Given the description of an element on the screen output the (x, y) to click on. 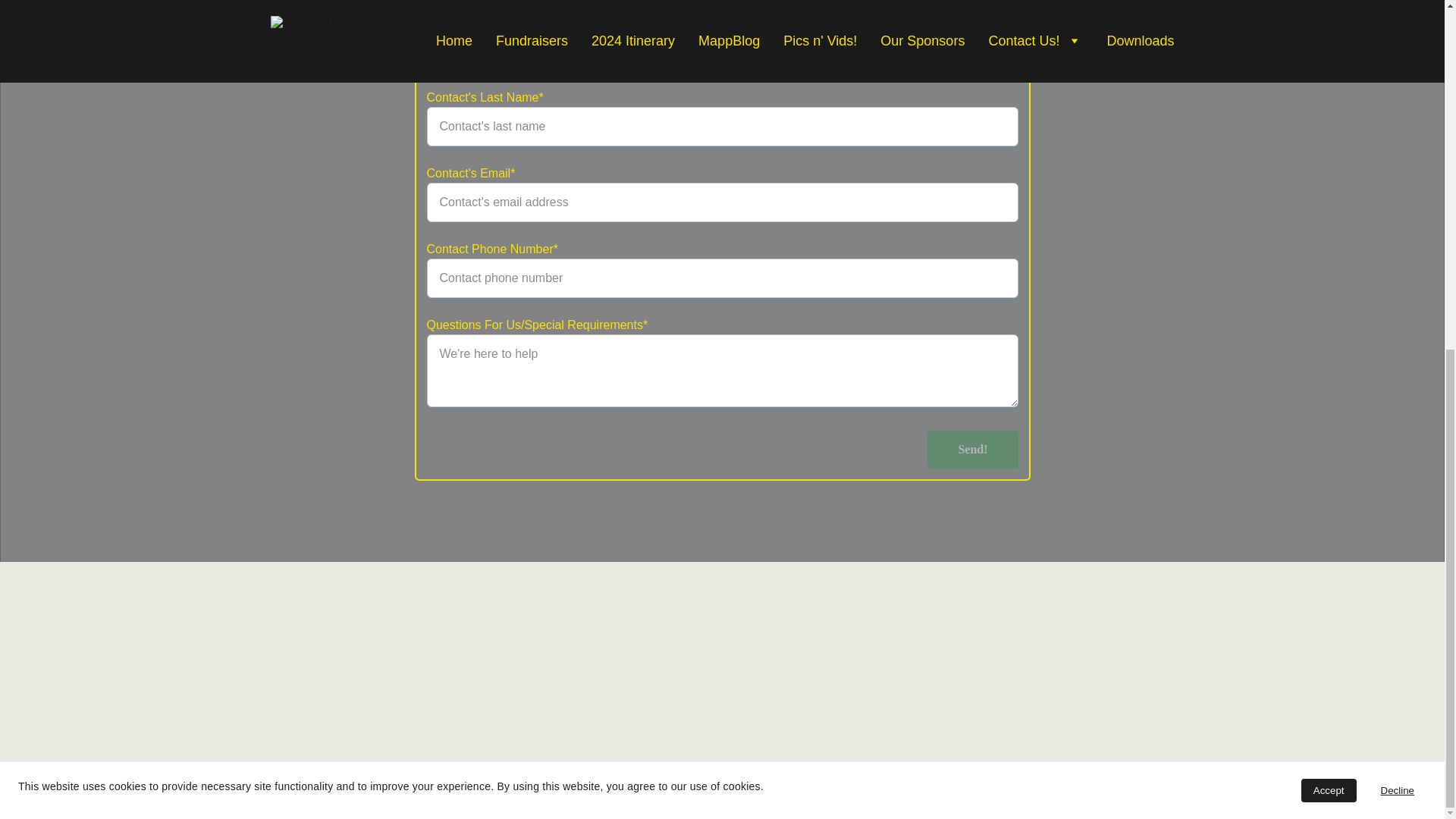
Send! (972, 449)
Decline (1397, 184)
Accept (1328, 184)
